Given the description of an element on the screen output the (x, y) to click on. 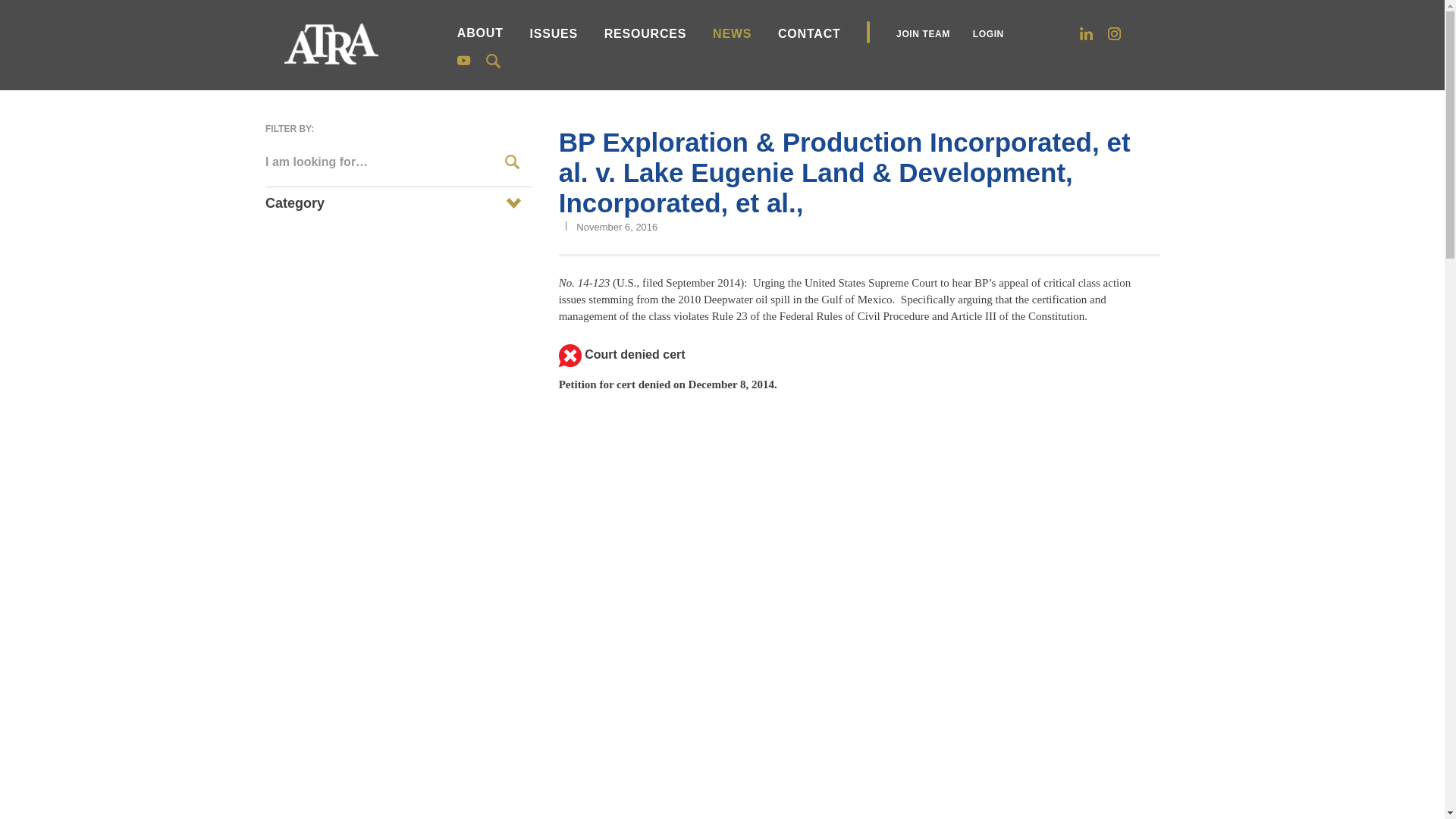
NEWS (732, 33)
CONTACT (809, 33)
RESOURCES (645, 33)
ABOUT (480, 32)
JOIN TEAM (923, 33)
ISSUES (553, 33)
LOGIN (988, 33)
